Given the description of an element on the screen output the (x, y) to click on. 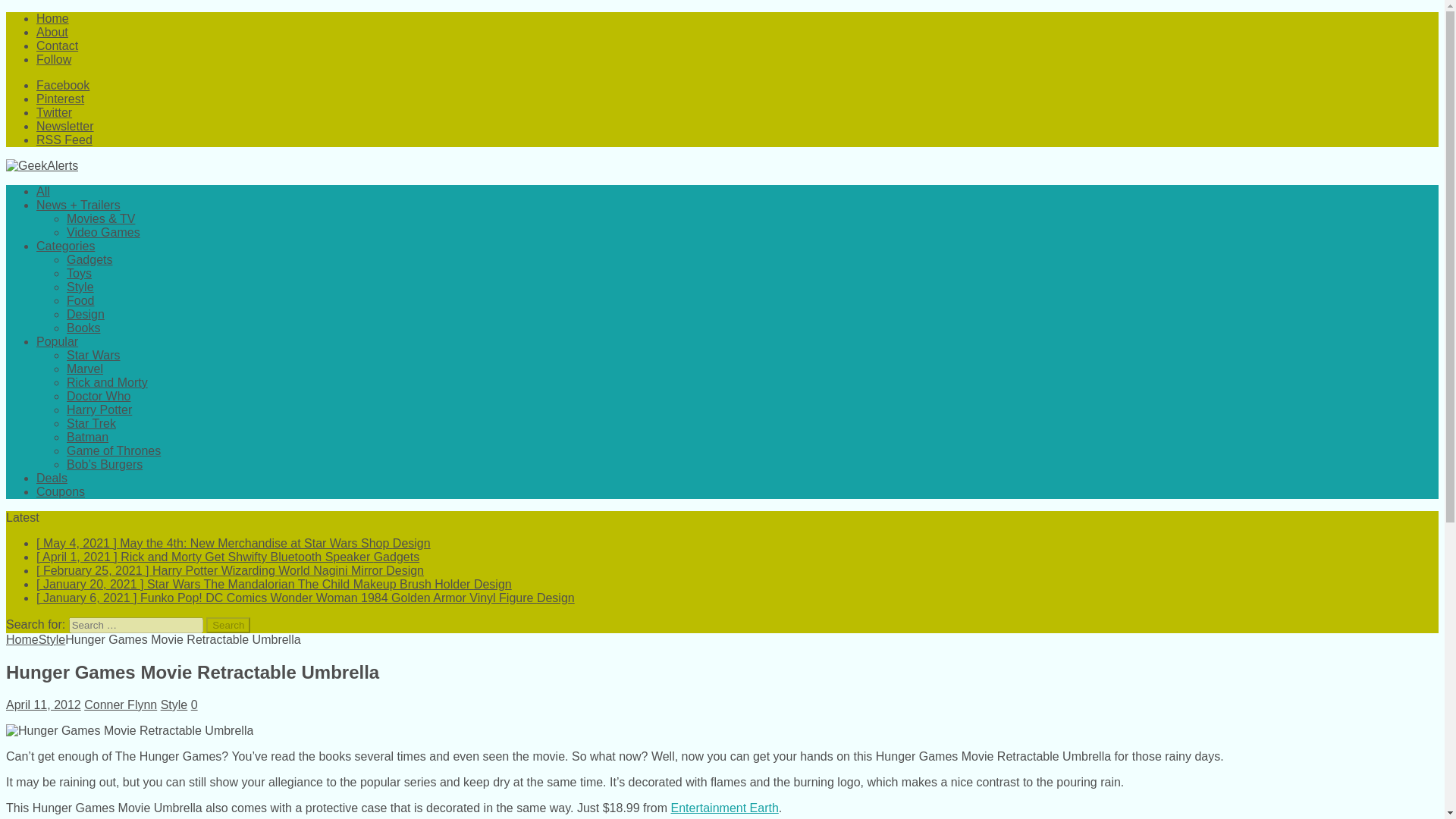
Food (80, 300)
Popular (57, 341)
Deals (51, 477)
Coupons (60, 491)
Marvel (84, 368)
Video Games (102, 232)
RSS Feed (64, 139)
Harry Potter Wizarding World Nagini Mirror (229, 570)
May the 4th: New Merchandise at Star Wars Shop (233, 543)
All (42, 191)
Search (228, 625)
Contact (57, 45)
Doctor Who (98, 395)
Star Wars (93, 354)
Star Wars The Mandalorian The Child Makeup Brush Holder (274, 584)
